Given the description of an element on the screen output the (x, y) to click on. 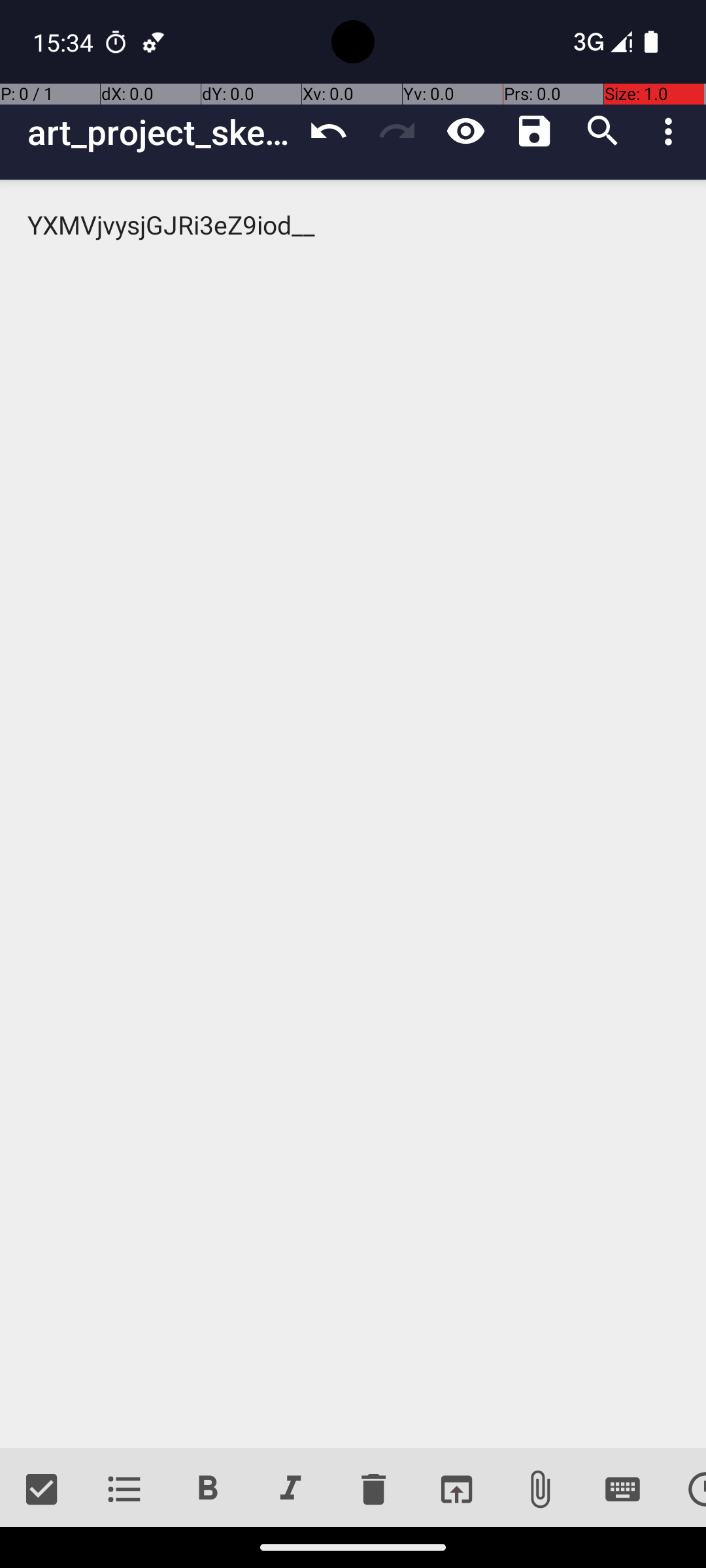
art_project_sketches_backup Element type: android.widget.TextView (160, 131)
YXMVjvysjGJRi3eZ9iod__ Element type: android.widget.EditText (353, 813)
